Given the description of an element on the screen output the (x, y) to click on. 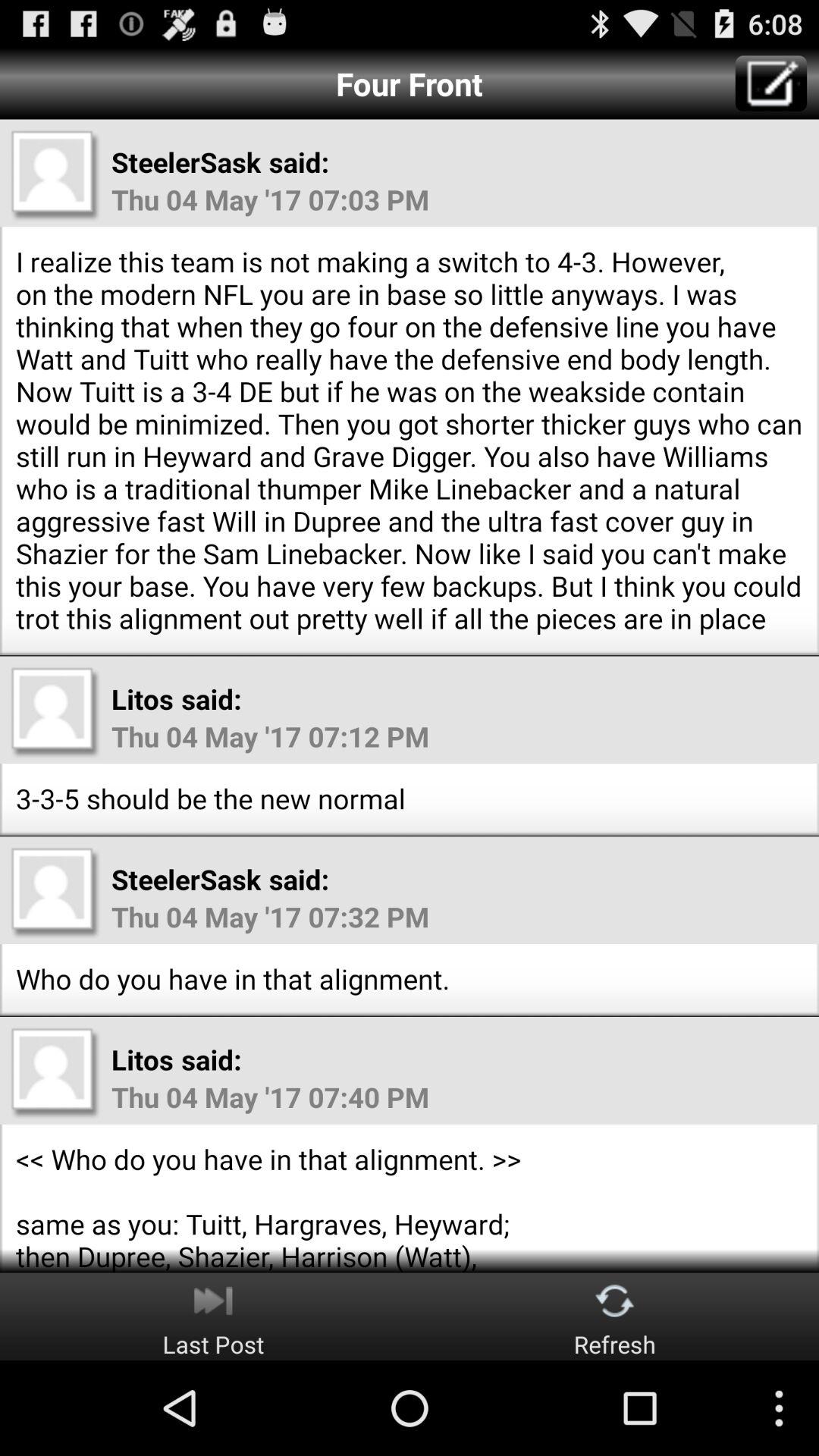
view avatar (55, 174)
